Given the description of an element on the screen output the (x, y) to click on. 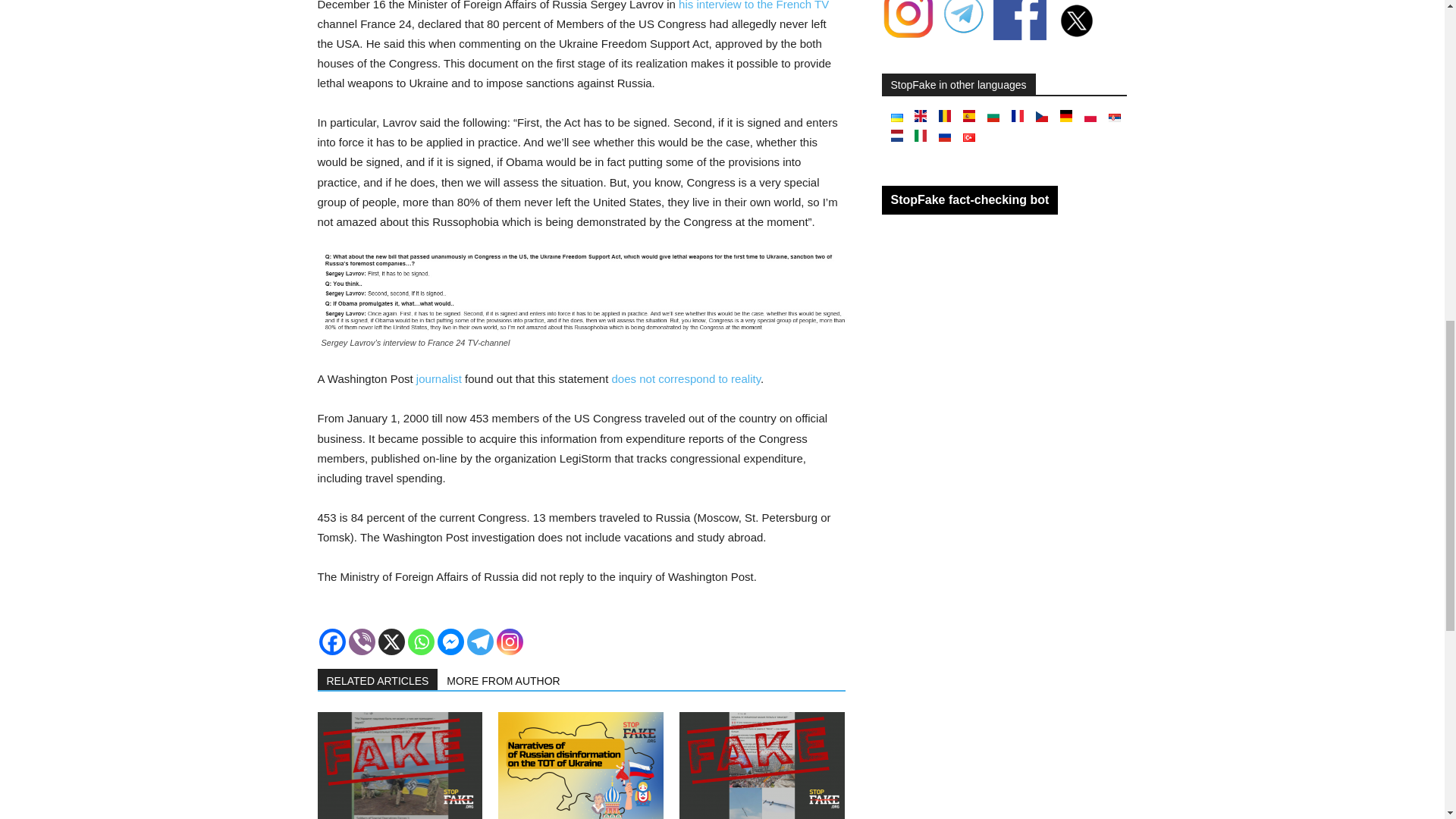
Whatsapp (420, 641)
Facebook (331, 641)
Instagram (509, 641)
Telegram (480, 641)
Viber (362, 641)
Photo Fake: Ukrainian Soldiers Pose with a Swastika Flag (399, 765)
X (390, 641)
